Given the description of an element on the screen output the (x, y) to click on. 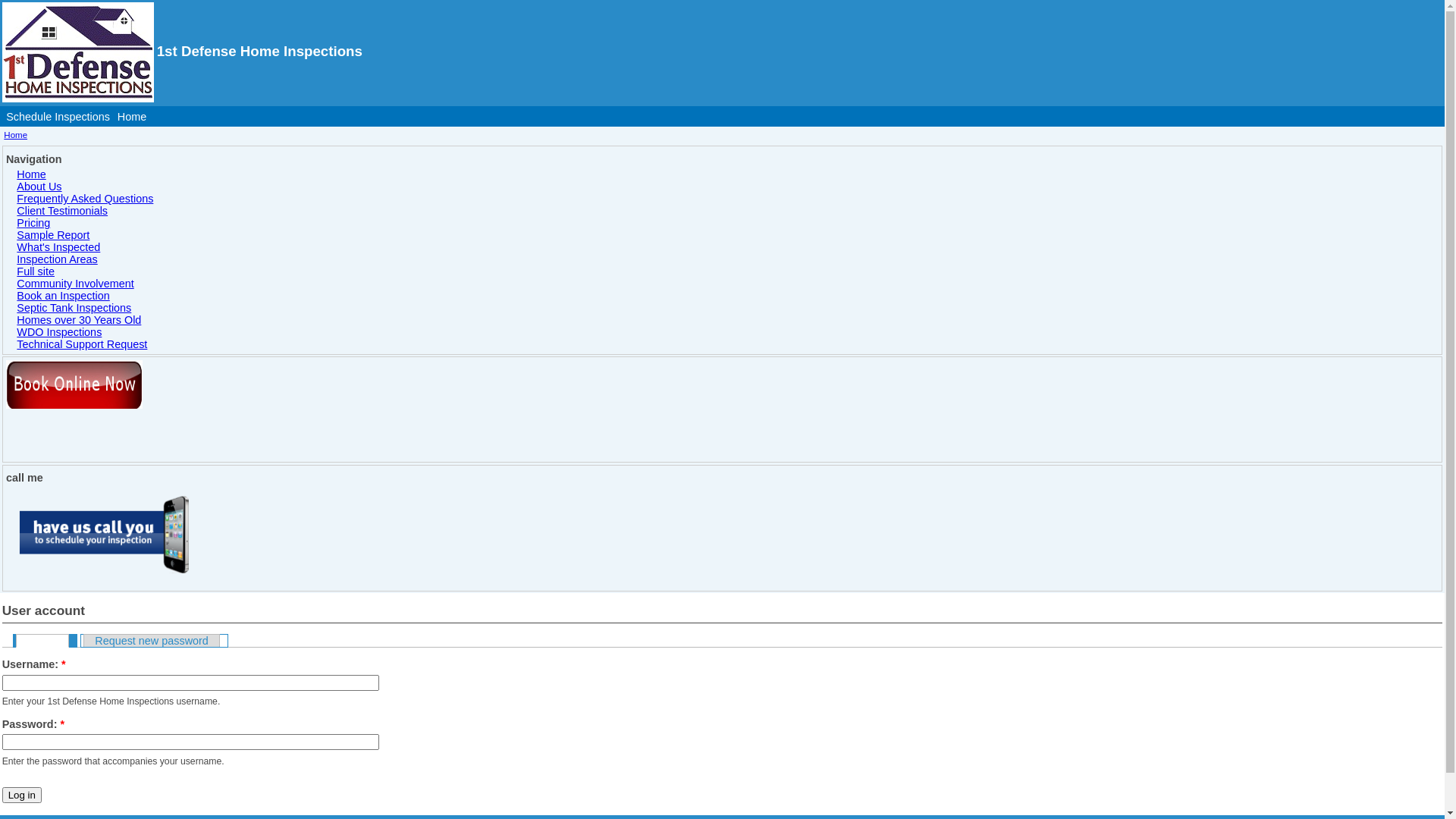
Book an Inspection Element type: text (727, 295)
Septic Tank Inspections Element type: text (727, 307)
Technical Support Request Element type: text (727, 344)
WDO Inspections Element type: text (727, 332)
1st Defense Home Inspections Element type: text (259, 51)
Schedule Inspections Element type: text (57, 116)
Homes over 30 Years Old Element type: text (727, 319)
Log in Element type: text (42, 640)
Request new password Element type: text (151, 639)
Home Element type: text (15, 134)
About Us Element type: text (727, 186)
Home Element type: text (727, 174)
What's Inspected Element type: text (727, 247)
Inspection Areas Element type: text (727, 259)
Pricing Element type: text (727, 222)
Community Involvement Element type: text (727, 283)
Home Element type: text (131, 116)
Client Testimonials Element type: text (727, 210)
Frequently Asked Questions Element type: text (727, 198)
Sample Report Element type: text (727, 235)
Full site Element type: text (727, 271)
Log in Element type: text (21, 795)
